Given the description of an element on the screen output the (x, y) to click on. 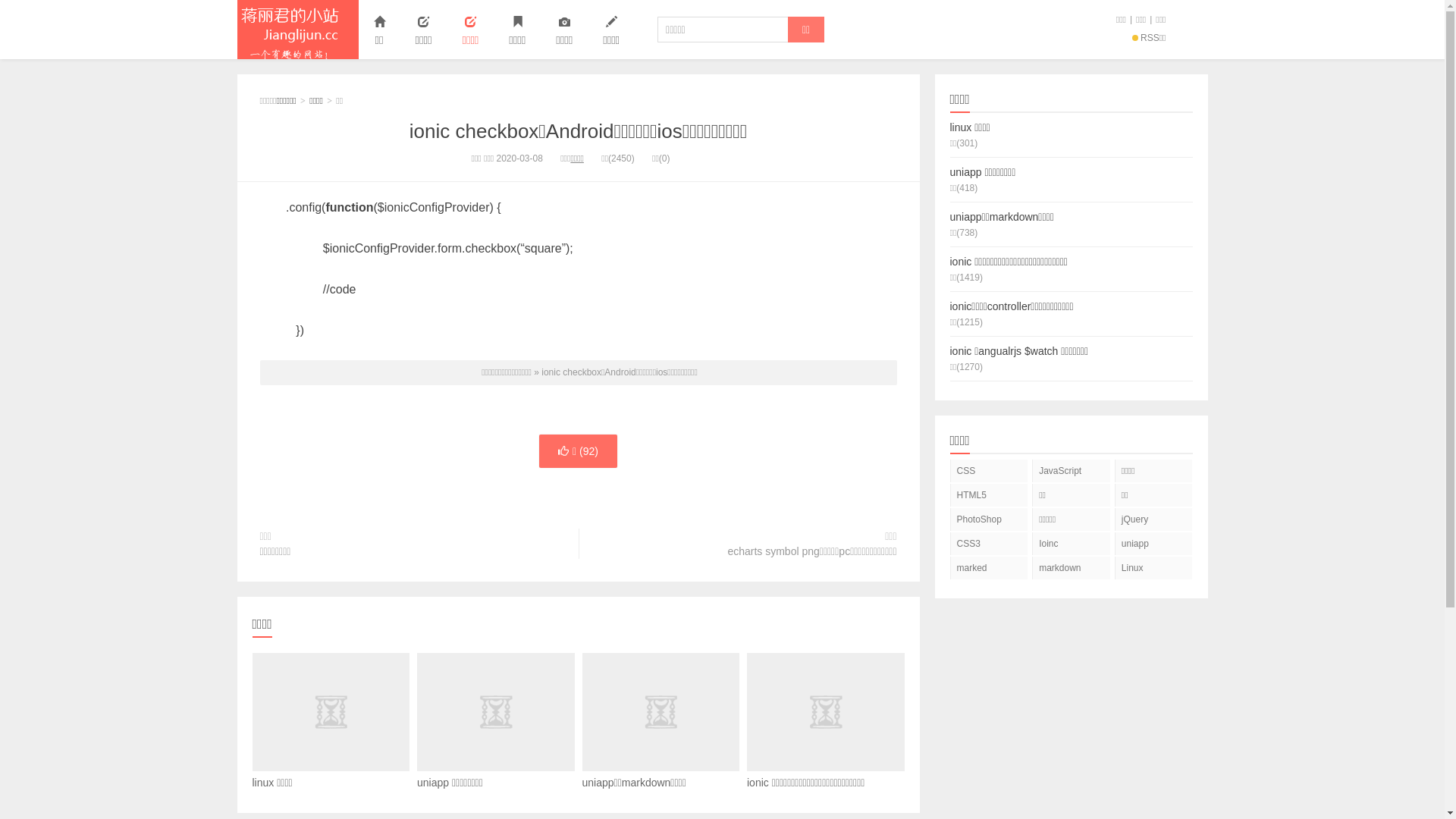
Ioinc Element type: text (1071, 543)
marked Element type: text (988, 567)
CSS3 Element type: text (988, 543)
jQuery Element type: text (1153, 519)
JavaScript Element type: text (1071, 470)
CSS Element type: text (988, 470)
uniapp Element type: text (1153, 543)
HTML5 Element type: text (988, 494)
PhotoShop Element type: text (988, 519)
markdown Element type: text (1071, 567)
Linux Element type: text (1153, 567)
